Given the description of an element on the screen output the (x, y) to click on. 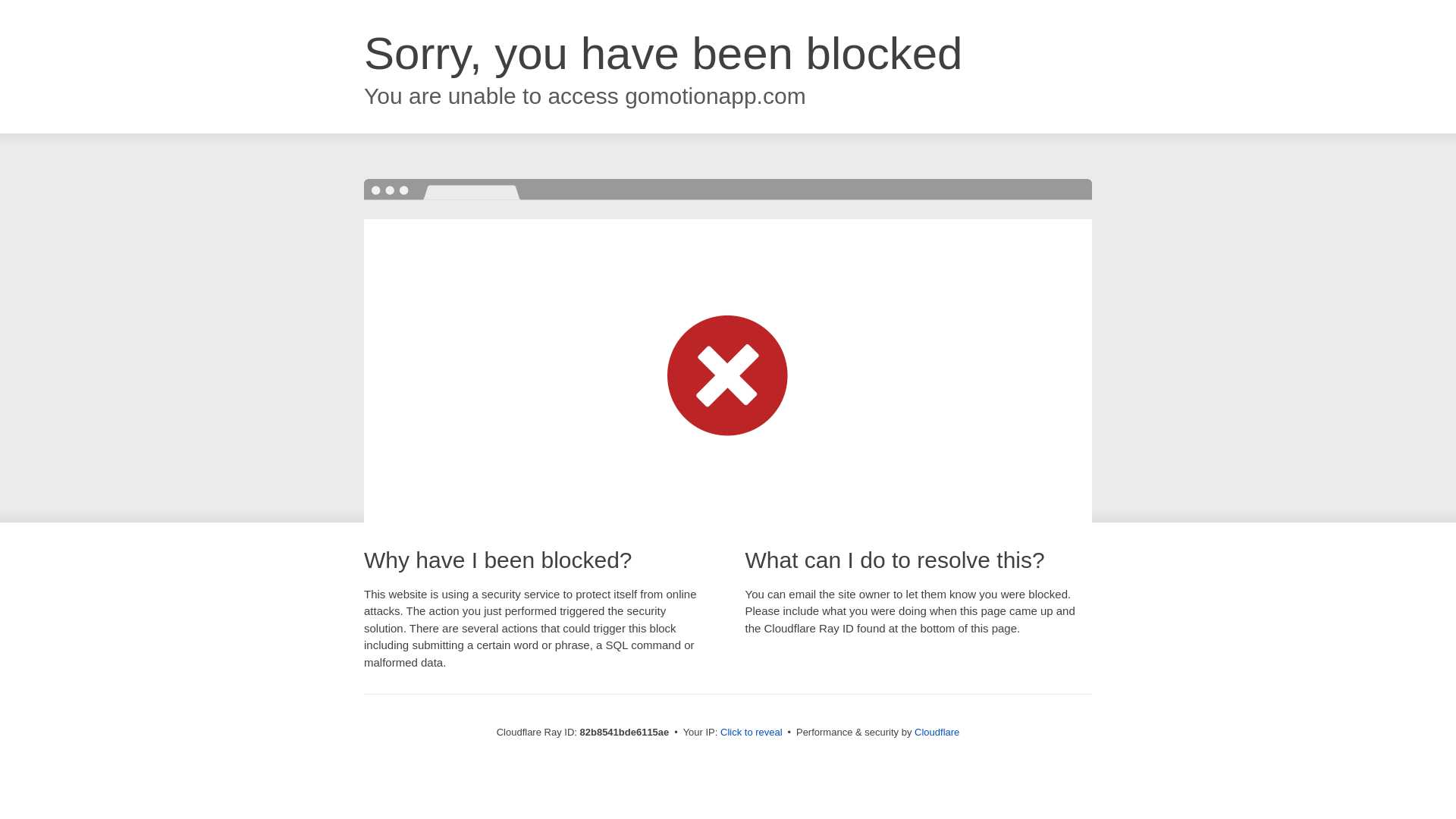
Cloudflare Element type: text (936, 731)
Click to reveal Element type: text (751, 732)
